Given the description of an element on the screen output the (x, y) to click on. 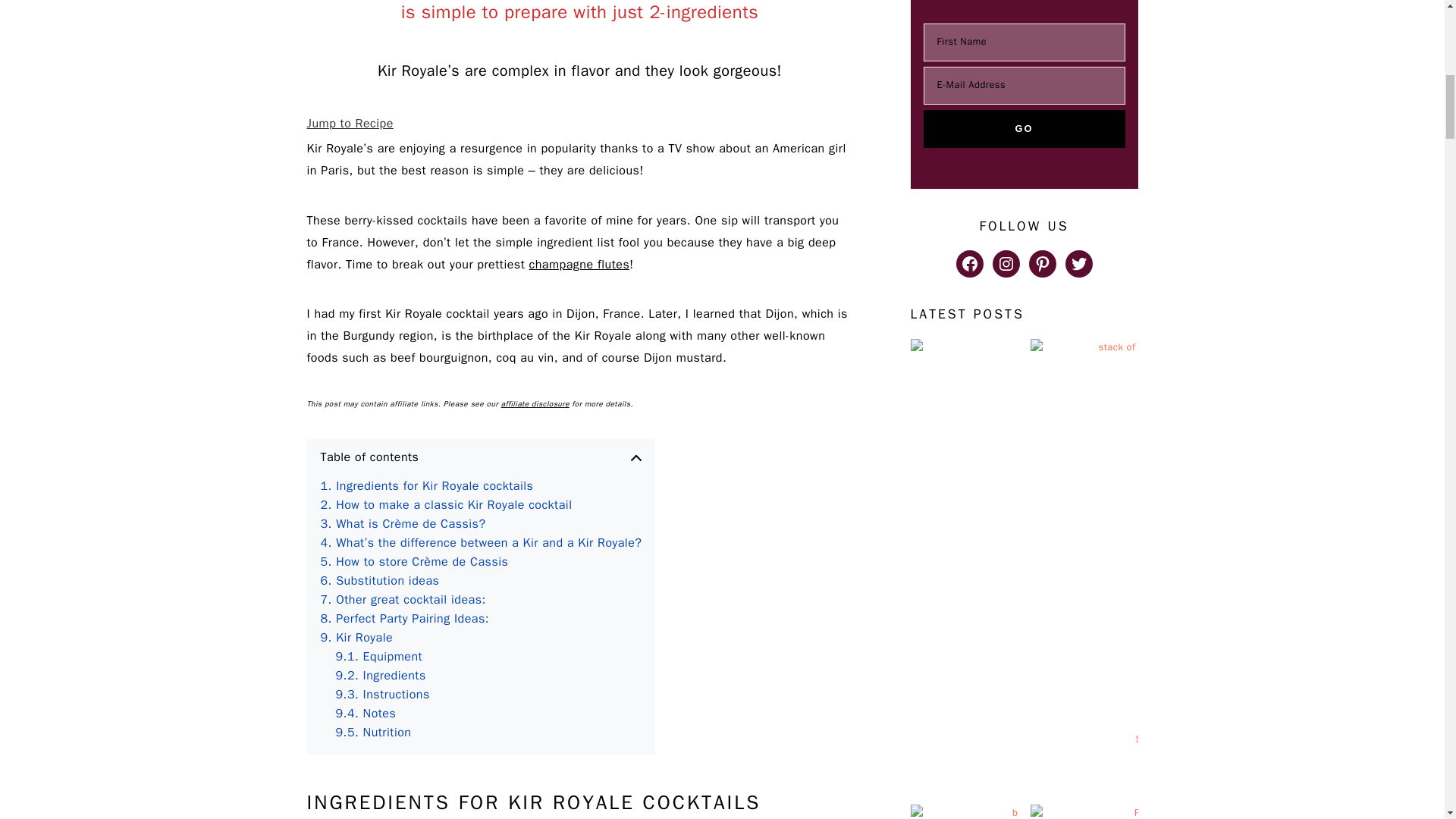
Other great cocktail ideas: (402, 599)
How to make a classic Kir Royale cocktail (446, 505)
Equipment (378, 656)
Ingredients (379, 675)
Notes (365, 713)
Go (1024, 128)
Perfect Party Pairing Ideas: (404, 618)
Ingredients for Kir Royale cocktails (426, 486)
Nutrition (372, 732)
Substitution ideas (379, 580)
